Given the description of an element on the screen output the (x, y) to click on. 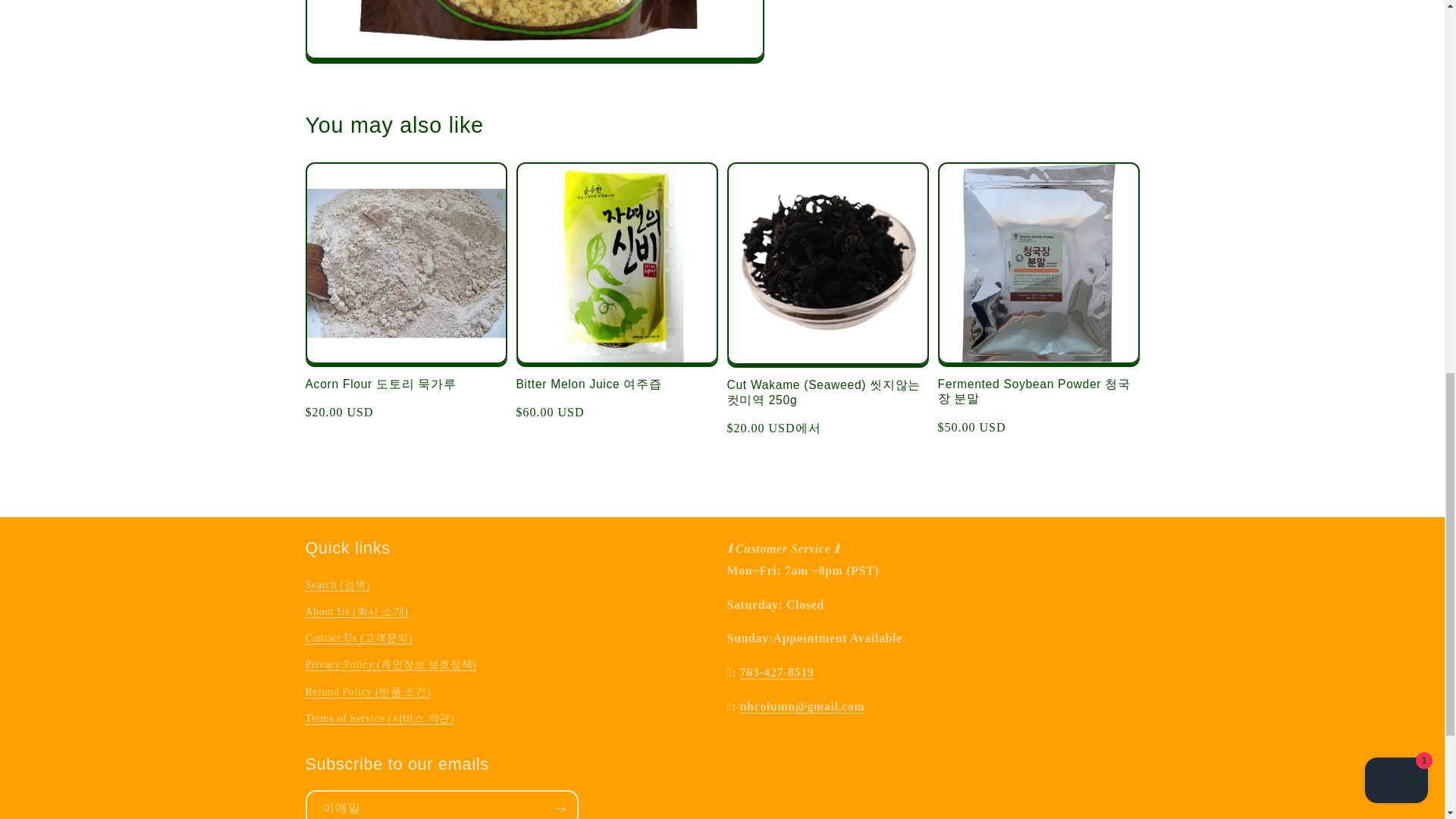
tel:763-427-8519 (776, 671)
